Given the description of an element on the screen output the (x, y) to click on. 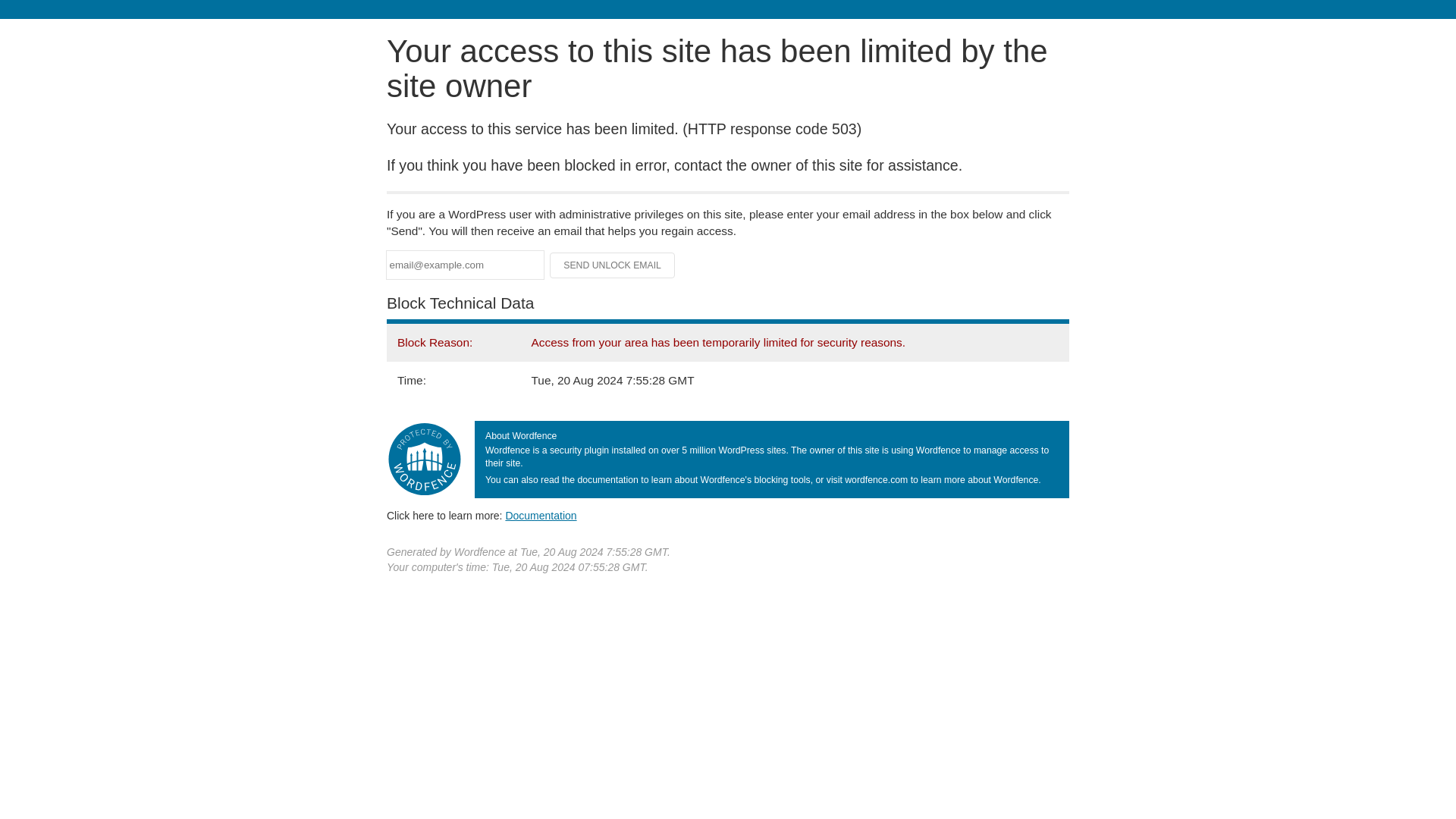
Send Unlock Email (612, 265)
Documentation (540, 515)
Send Unlock Email (612, 265)
